Given the description of an element on the screen output the (x, y) to click on. 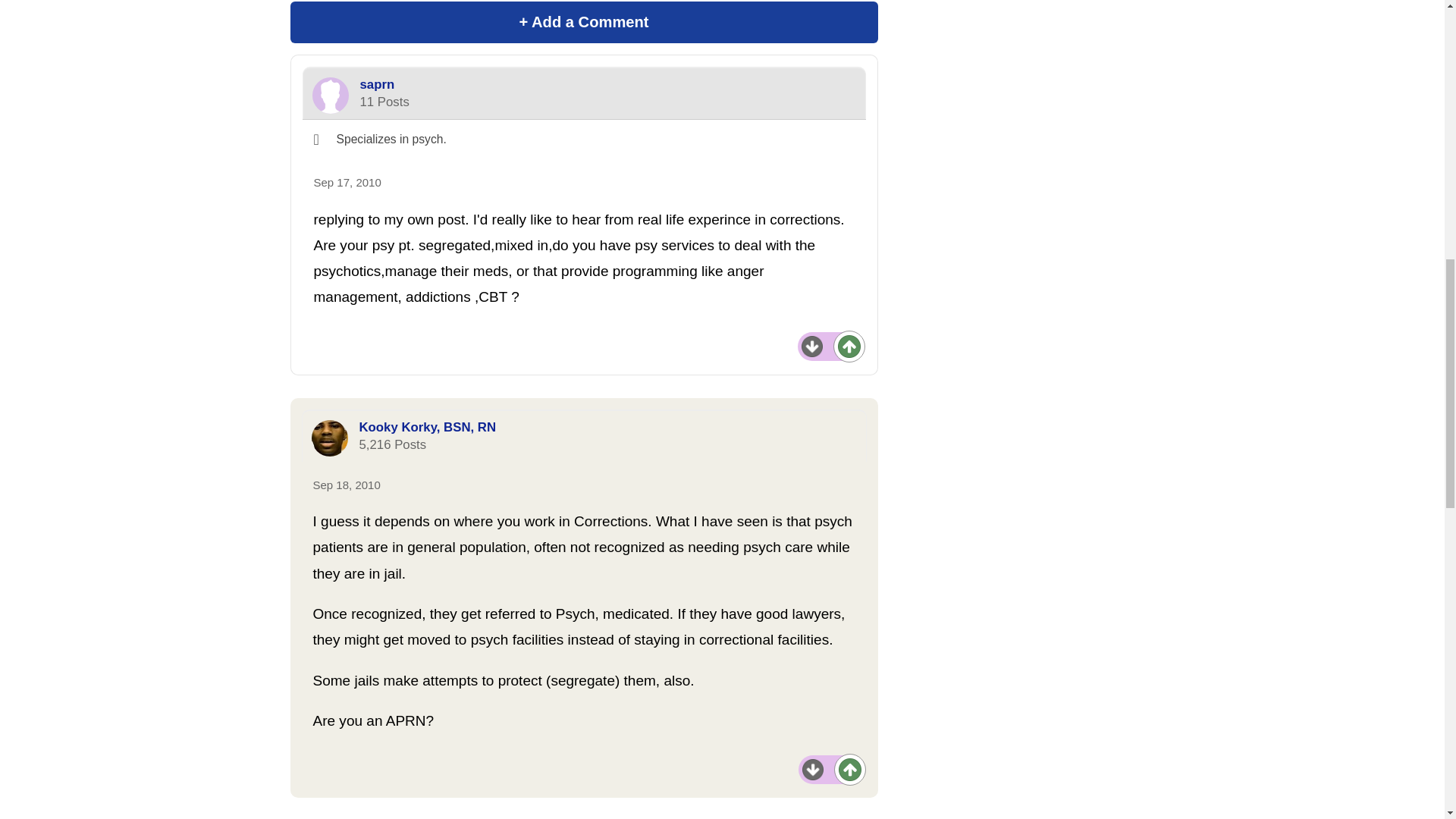
Go to saprn's profile (331, 94)
Go to saprn's profile (376, 83)
